Given the description of an element on the screen output the (x, y) to click on. 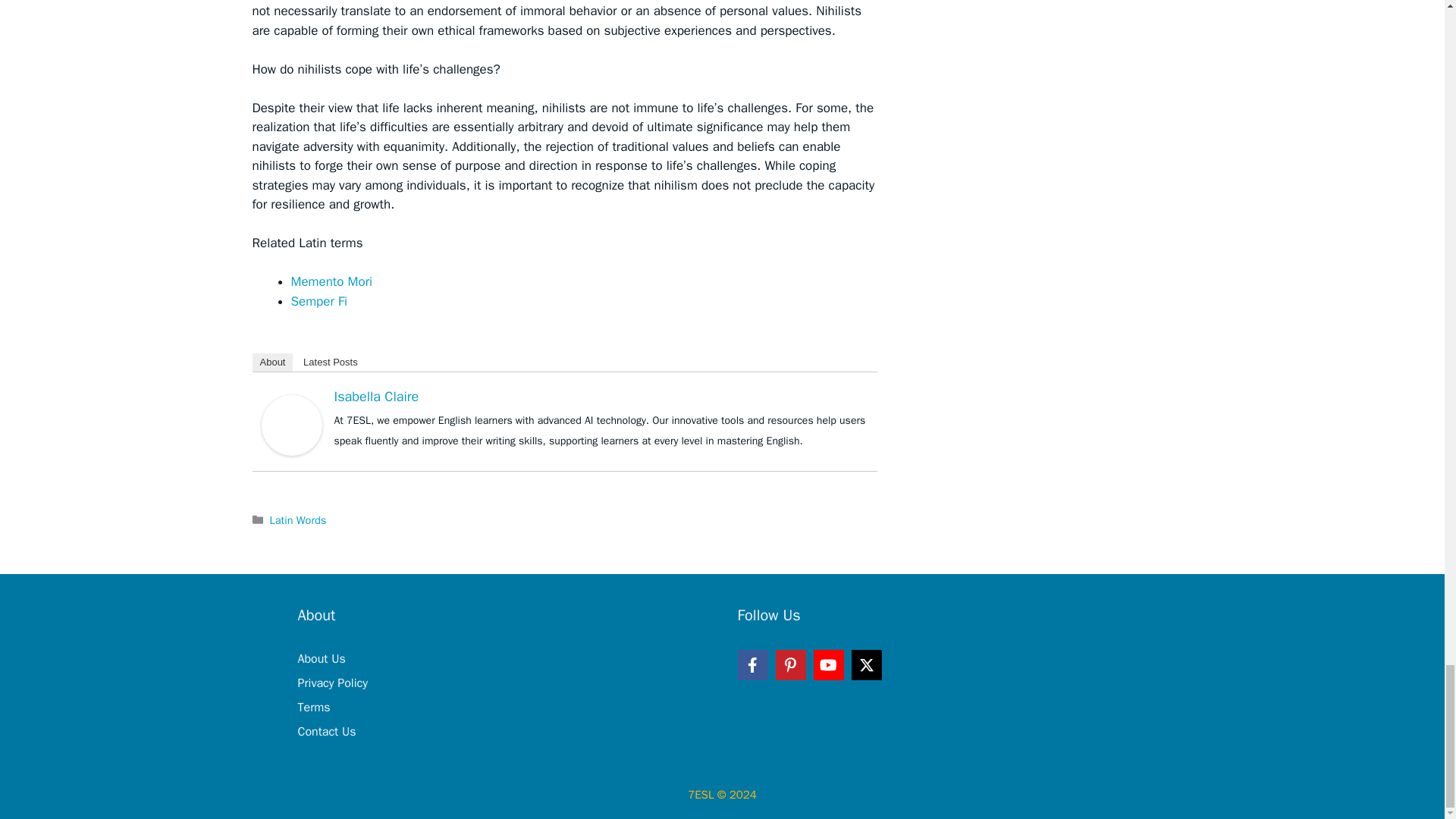
Isabella Claire (376, 396)
Memento Mori (331, 281)
Isabella Claire (290, 424)
Latest Posts (330, 361)
About (271, 361)
Semper Fi (319, 301)
